Given the description of an element on the screen output the (x, y) to click on. 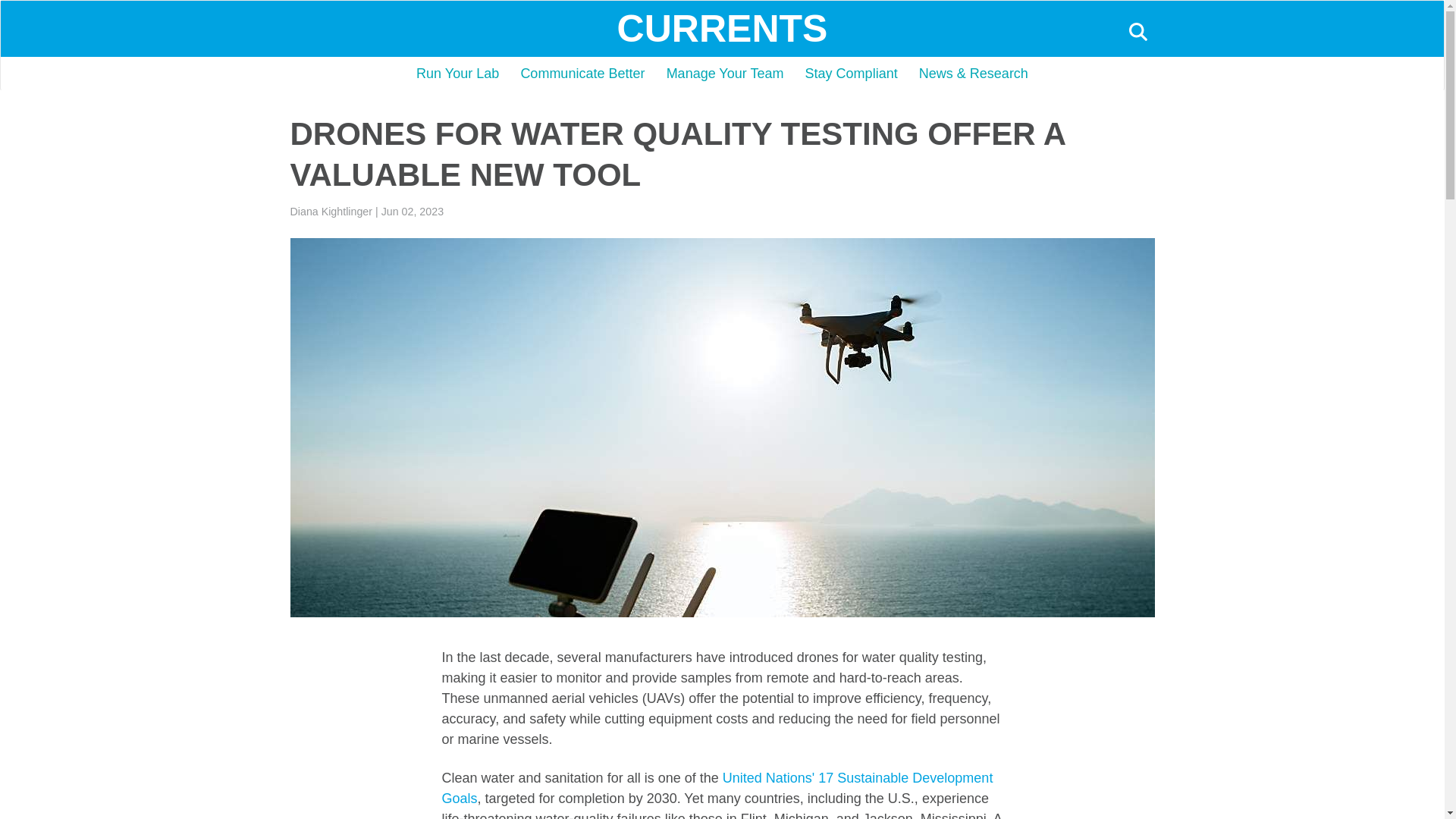
Diana Kightlinger (330, 211)
Run Your Lab (457, 73)
Manage Your Team (725, 73)
Communicate Better (582, 73)
United Nations' 17 Sustainable Development Goals (716, 787)
Stay Compliant (851, 73)
CURRENTS (722, 28)
